Given the description of an element on the screen output the (x, y) to click on. 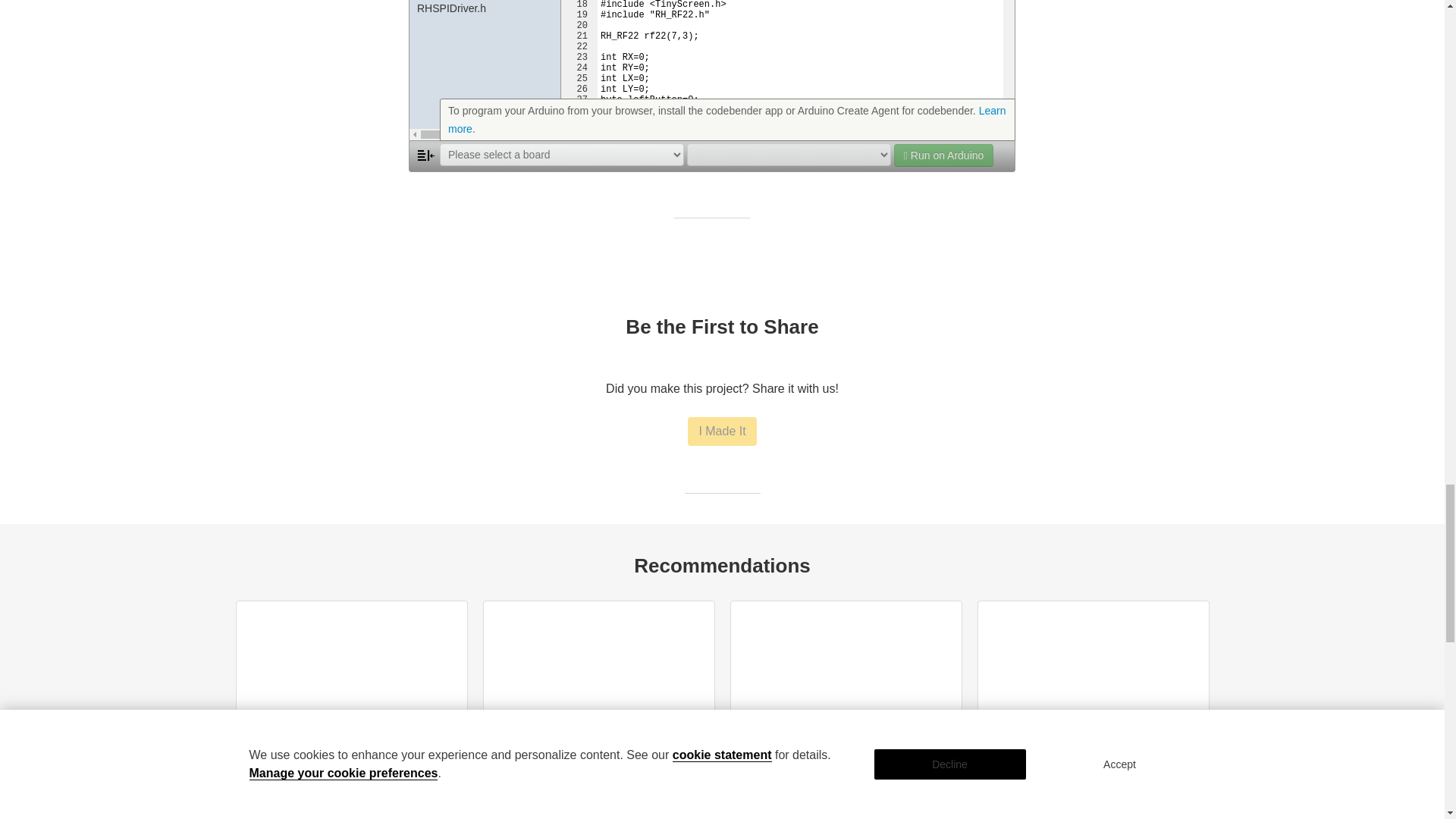
I Made It (721, 430)
Clocks (411, 809)
AI Lamp - How to Use AI in Arduino! (583, 809)
Lenticular Clock (287, 809)
mosivers (363, 809)
